Given the description of an element on the screen output the (x, y) to click on. 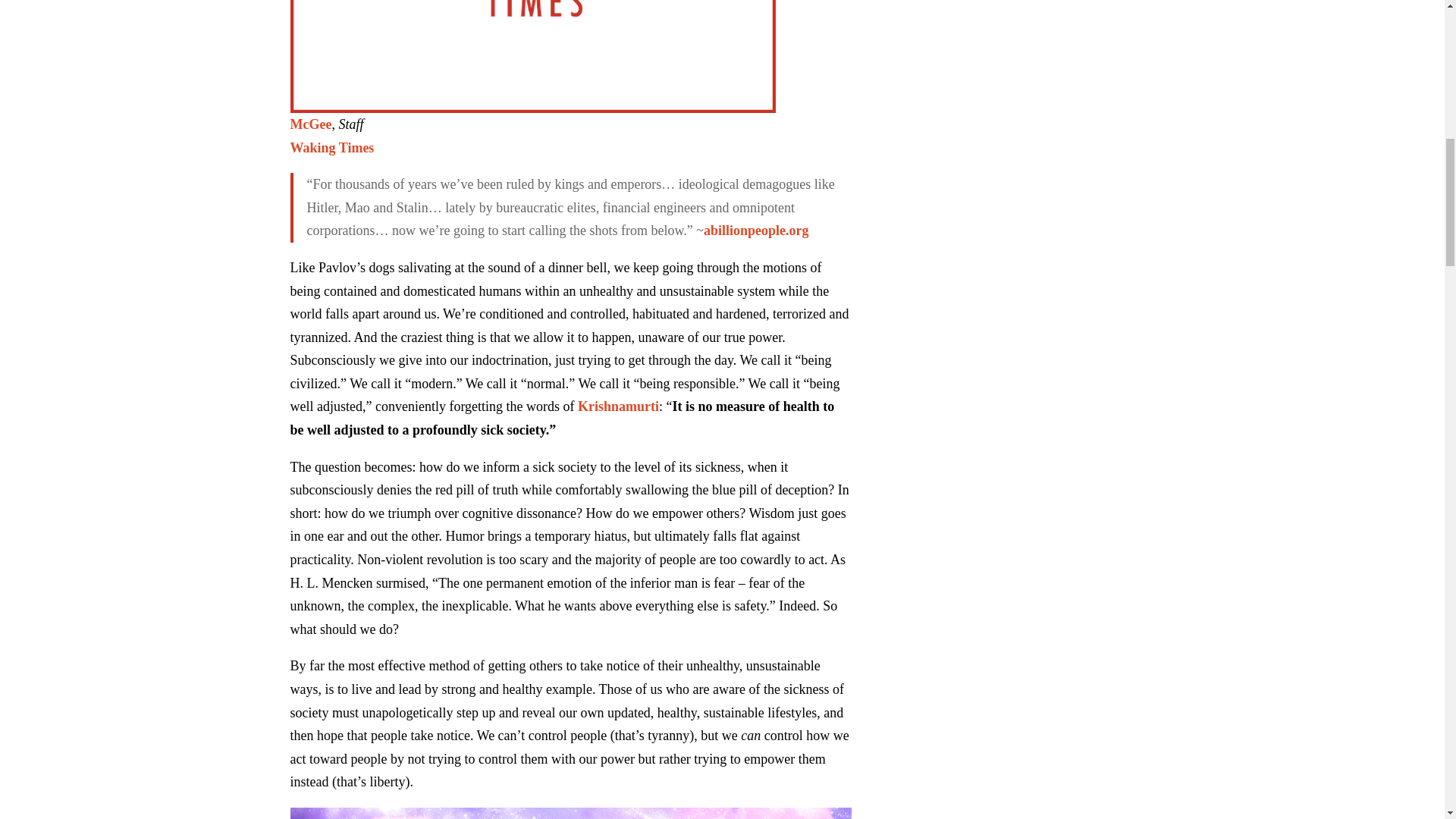
Krishnamurti (618, 406)
Waking Times (331, 147)
abillionpeople.org (756, 230)
